Given the description of an element on the screen output the (x, y) to click on. 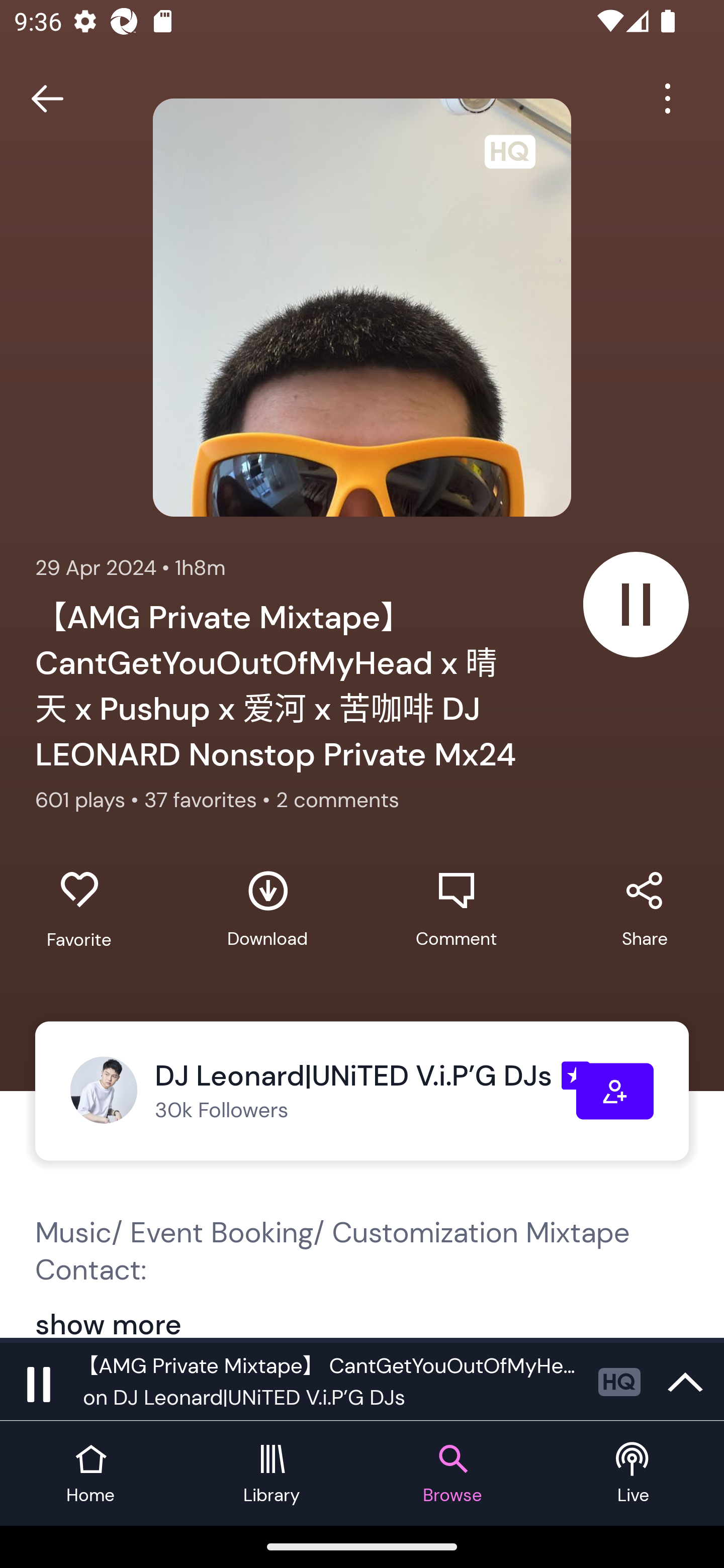
37 favorites •  (209, 799)
2 comments (336, 799)
Favorite (79, 909)
Download (267, 909)
Comment (455, 909)
Share (644, 909)
Follow (614, 1091)
Home tab Home (90, 1473)
Library tab Library (271, 1473)
Browse tab Browse (452, 1473)
Live tab Live (633, 1473)
